Given the description of an element on the screen output the (x, y) to click on. 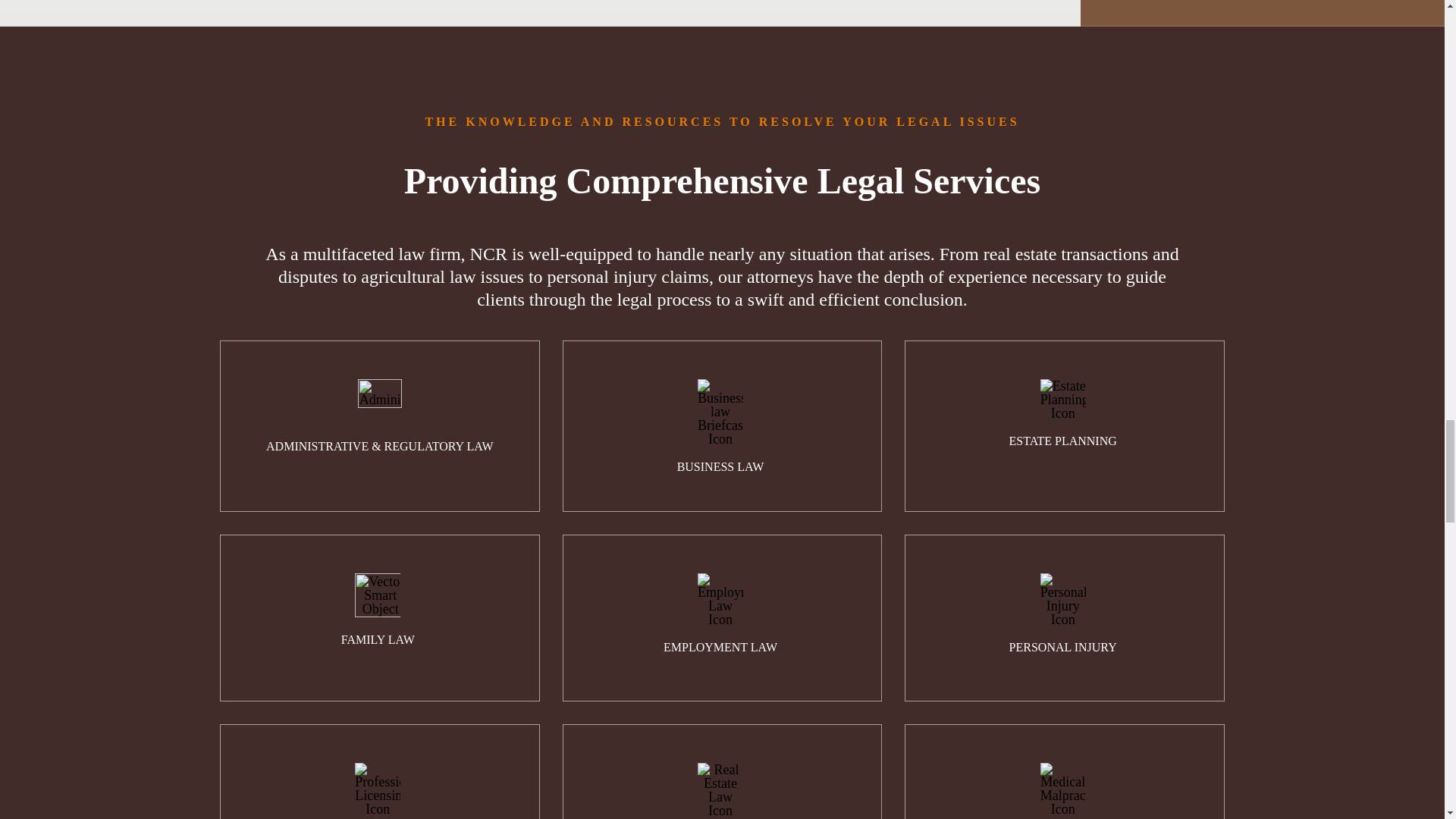
Administrative (379, 402)
Vector Smart Object (377, 596)
Estate Planning Icon (1063, 399)
